Given the description of an element on the screen output the (x, y) to click on. 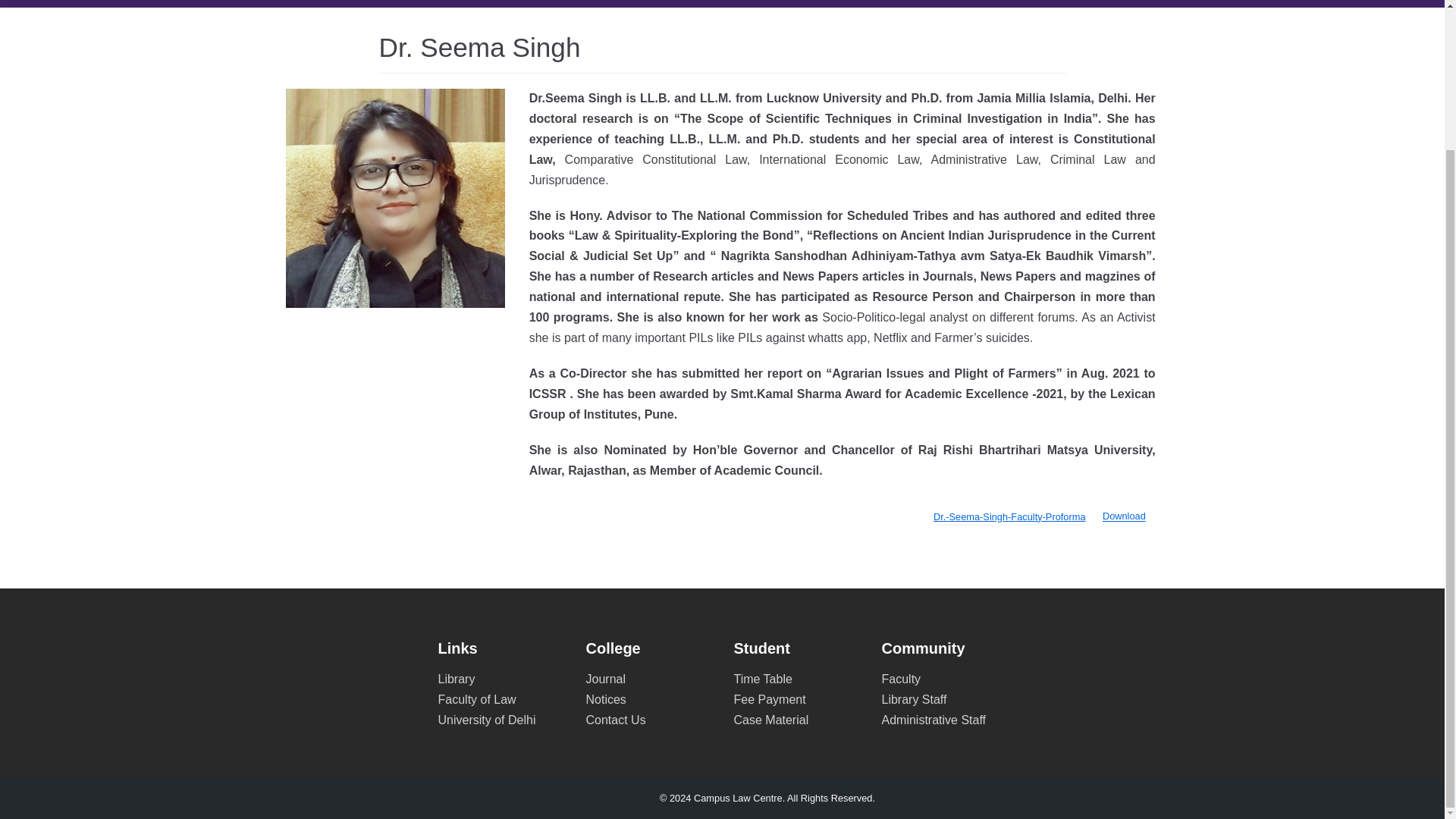
Search (1235, 236)
